Given the description of an element on the screen output the (x, y) to click on. 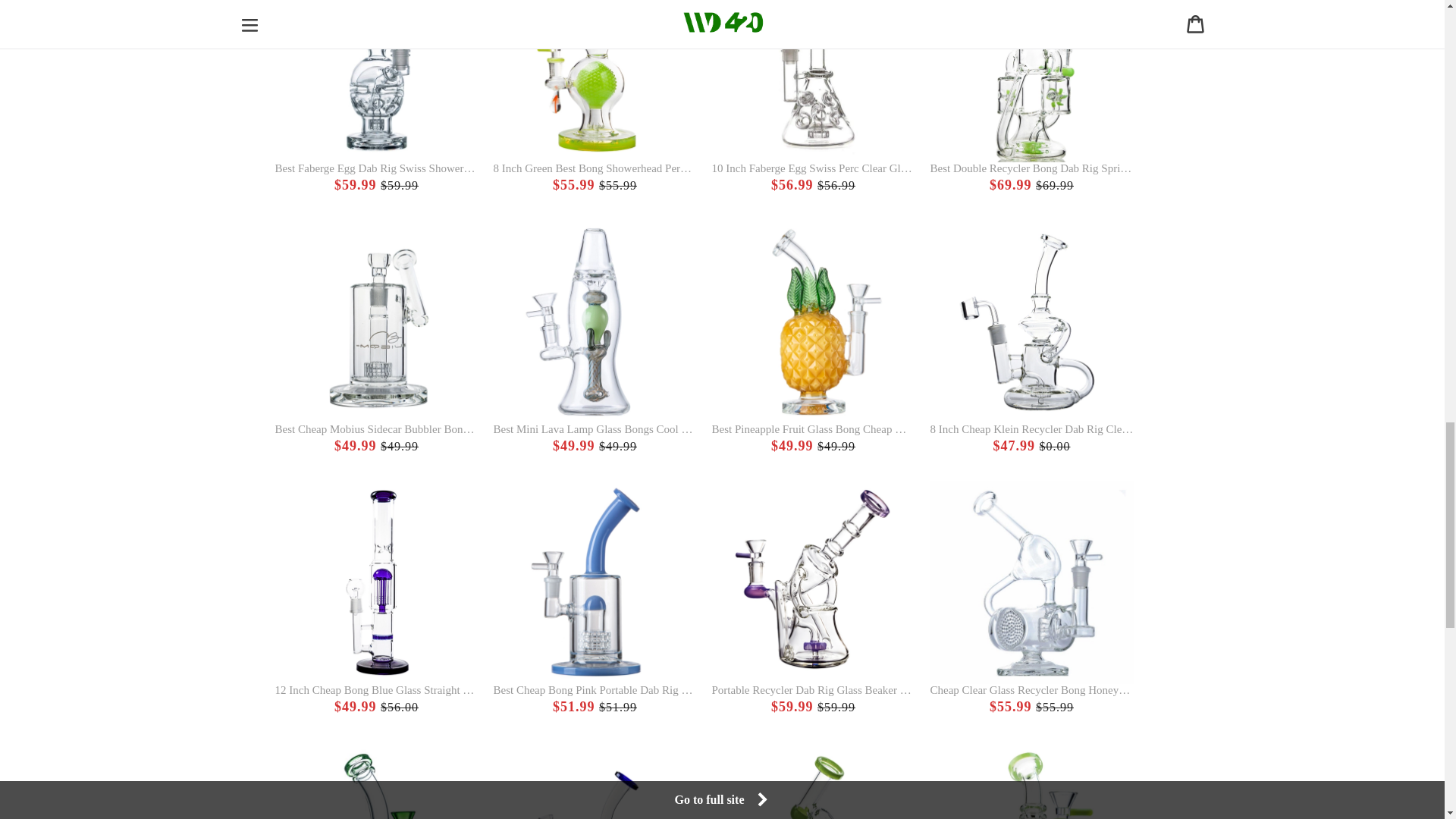
Fab Egg Dab Rig (376, 96)
